Given the description of an element on the screen output the (x, y) to click on. 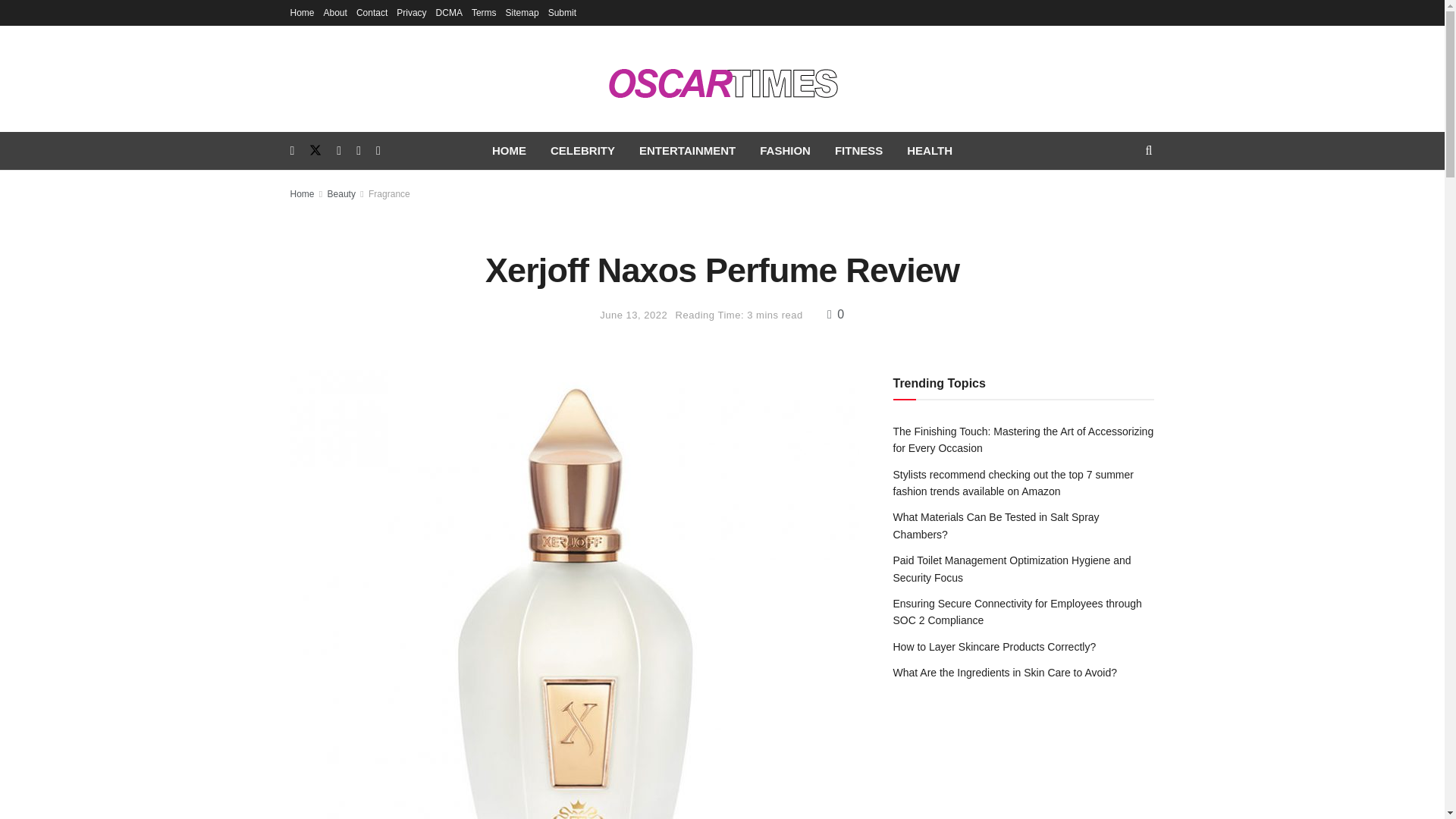
Contact (371, 12)
Sitemap (521, 12)
Home (301, 194)
Home (301, 12)
Fragrance (389, 194)
0 (835, 314)
About (335, 12)
Privacy (411, 12)
DCMA (449, 12)
ENTERTAINMENT (687, 150)
